Given the description of an element on the screen output the (x, y) to click on. 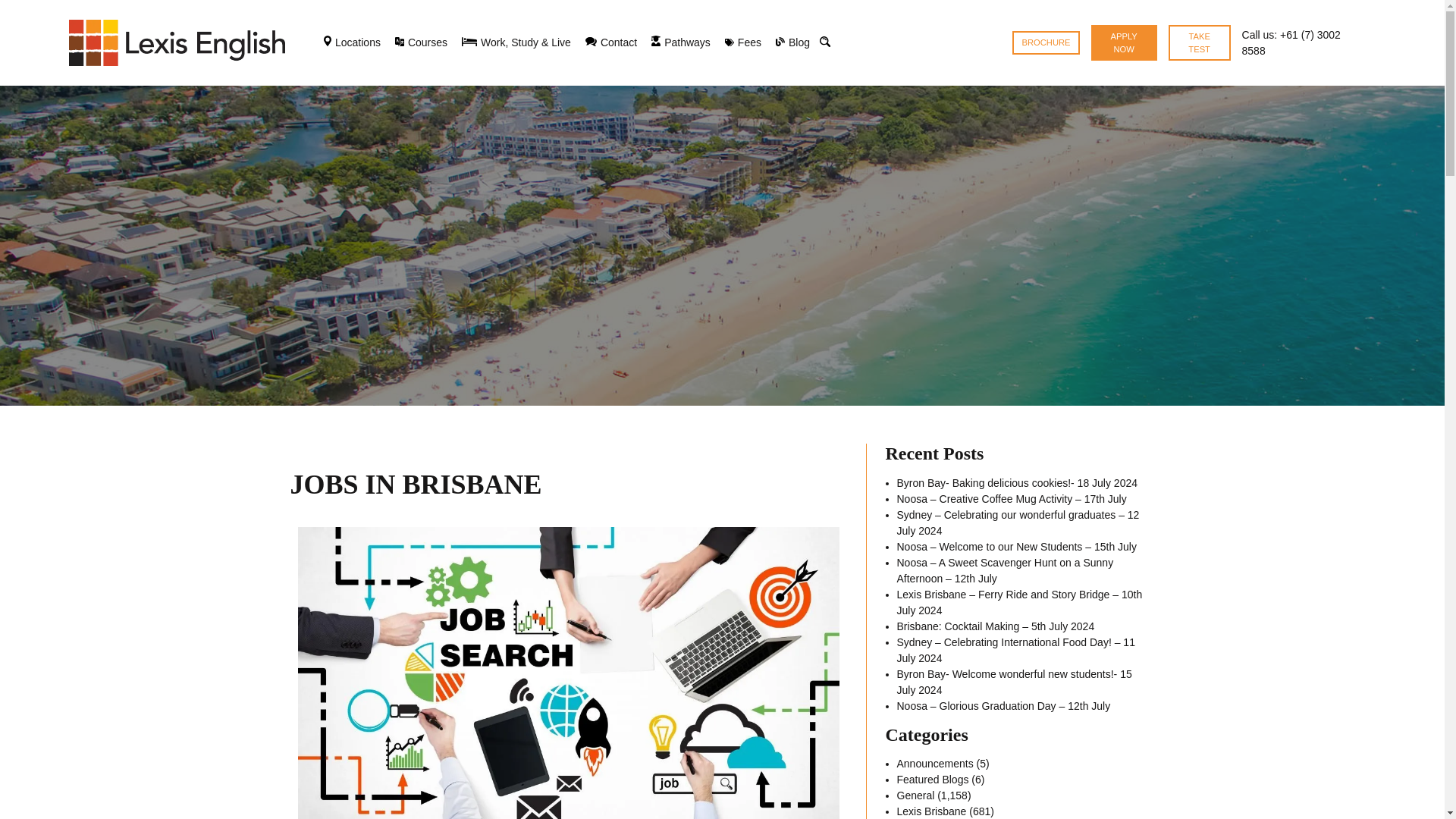
Locations (351, 42)
Locations (351, 42)
Contact (610, 42)
Courses (421, 42)
